Given the description of an element on the screen output the (x, y) to click on. 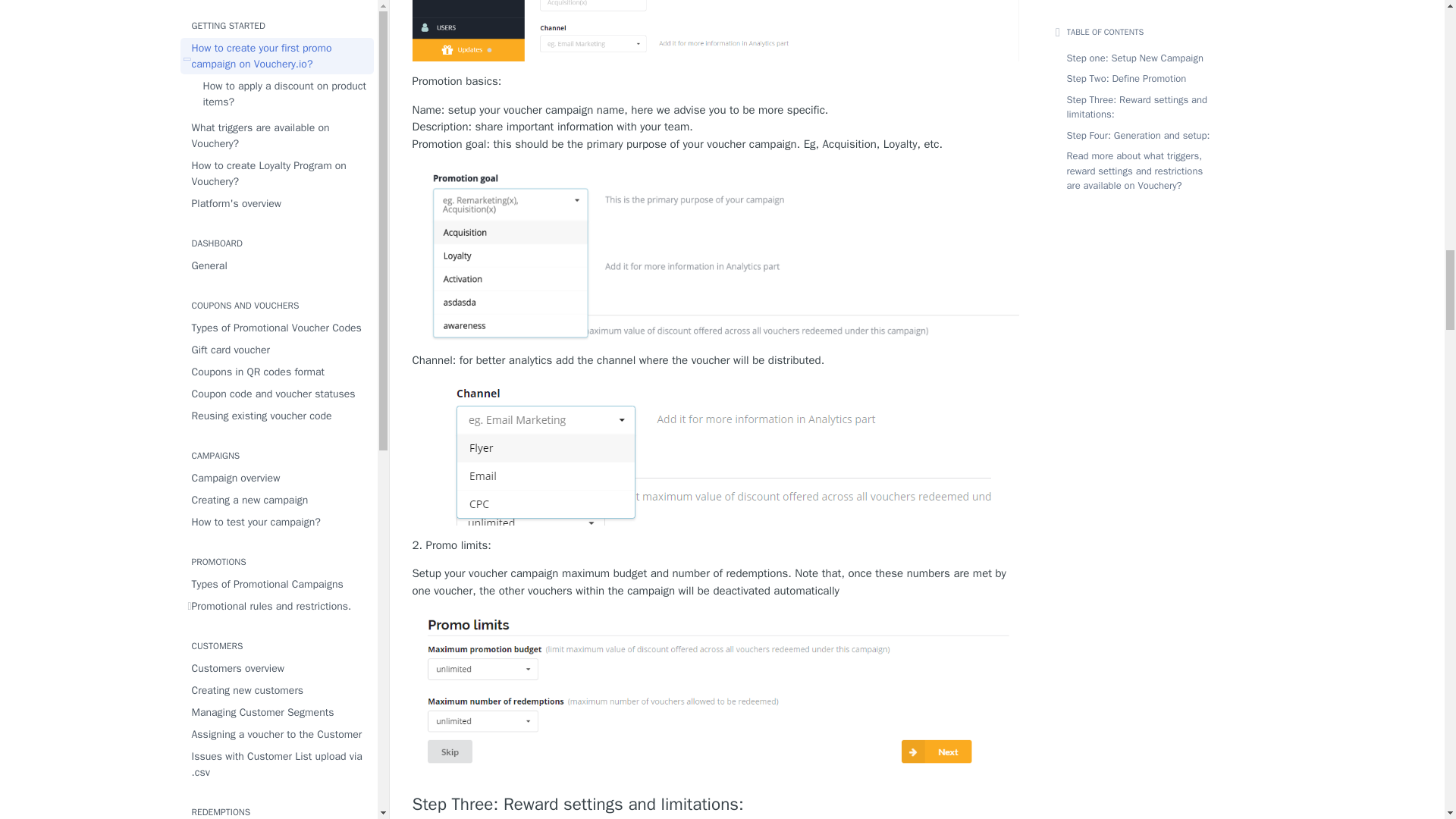
channel.png (714, 452)
Define promotion- promotion basics.png (715, 30)
promotion goal.png (715, 251)
Step Three: Reward settings and limitations: (715, 803)
promo limits.png (715, 693)
